Given the description of an element on the screen output the (x, y) to click on. 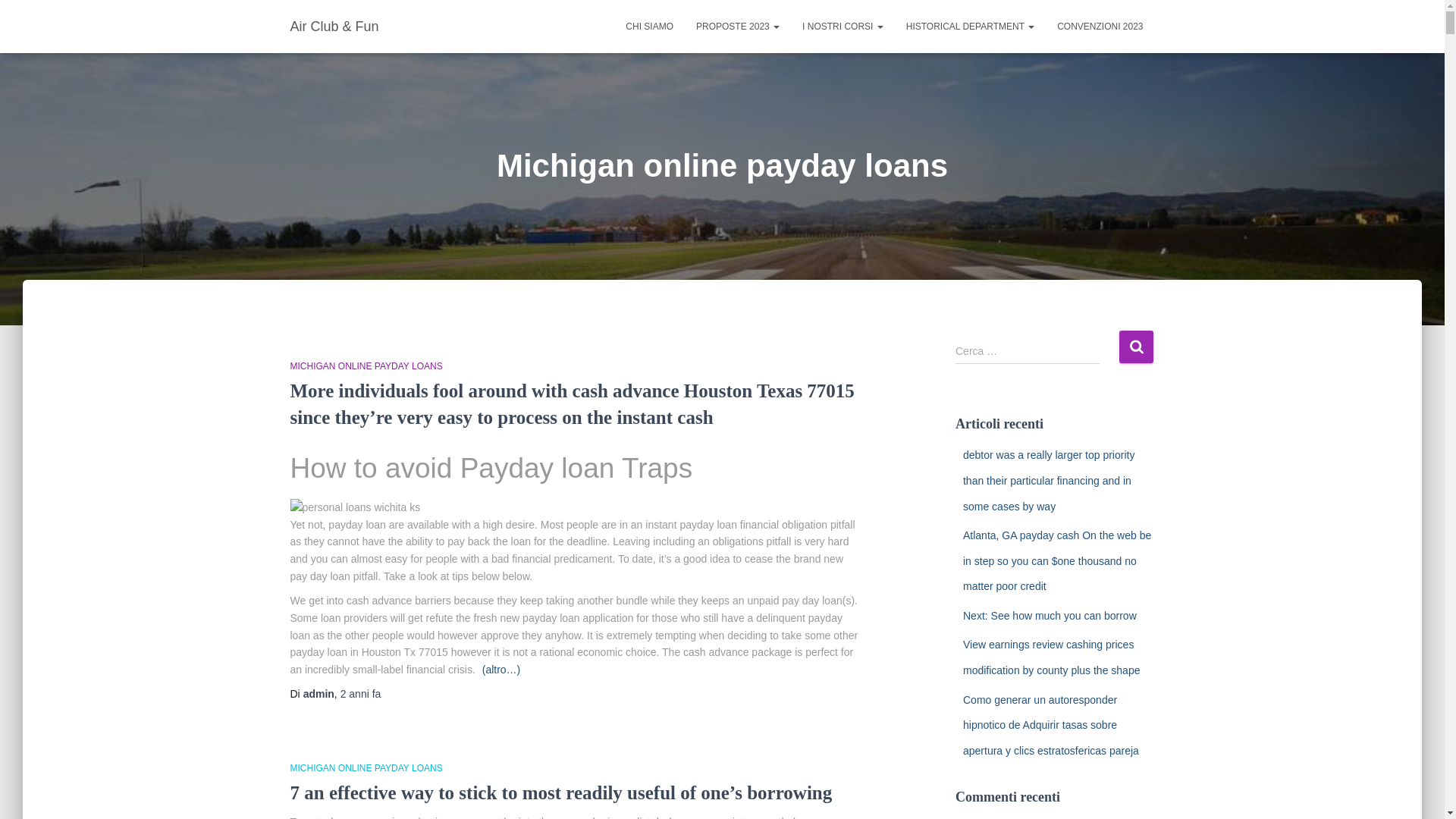
CHI SIAMO (649, 26)
PROPOSTE 2023 (737, 26)
CONVENZIONI 2023 (1099, 26)
Proposte 2023 (737, 26)
Cerca (1136, 346)
HISTORICAL DEPARTMENT (970, 26)
MICHIGAN ONLINE PAYDAY LOANS (365, 366)
Next: See how much you can borrow (1049, 615)
I NOSTRI CORSI (842, 26)
Cerca (1136, 346)
admin (318, 693)
